Given the description of an element on the screen output the (x, y) to click on. 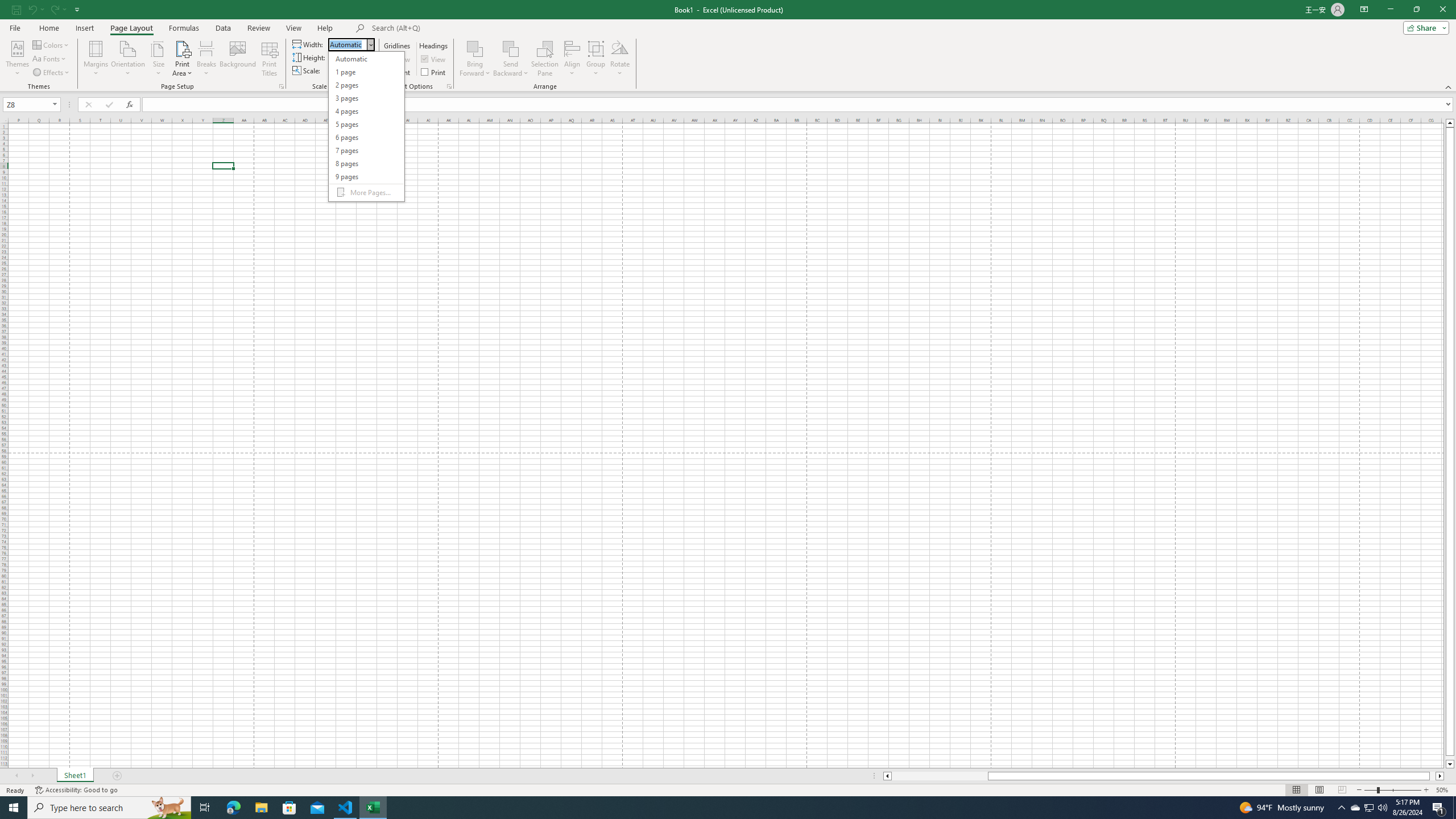
Send Backward (510, 48)
Minimize (1390, 9)
Close (370, 44)
Review (258, 28)
Save (16, 9)
More Options (510, 68)
Formulas (184, 28)
Class: MsoCommandBar (728, 45)
Redo (53, 9)
Height (350, 56)
Width (365, 126)
Name Box (30, 104)
Fonts (49, 58)
Scroll Left (16, 775)
Formula Bar (798, 104)
